Given the description of an element on the screen output the (x, y) to click on. 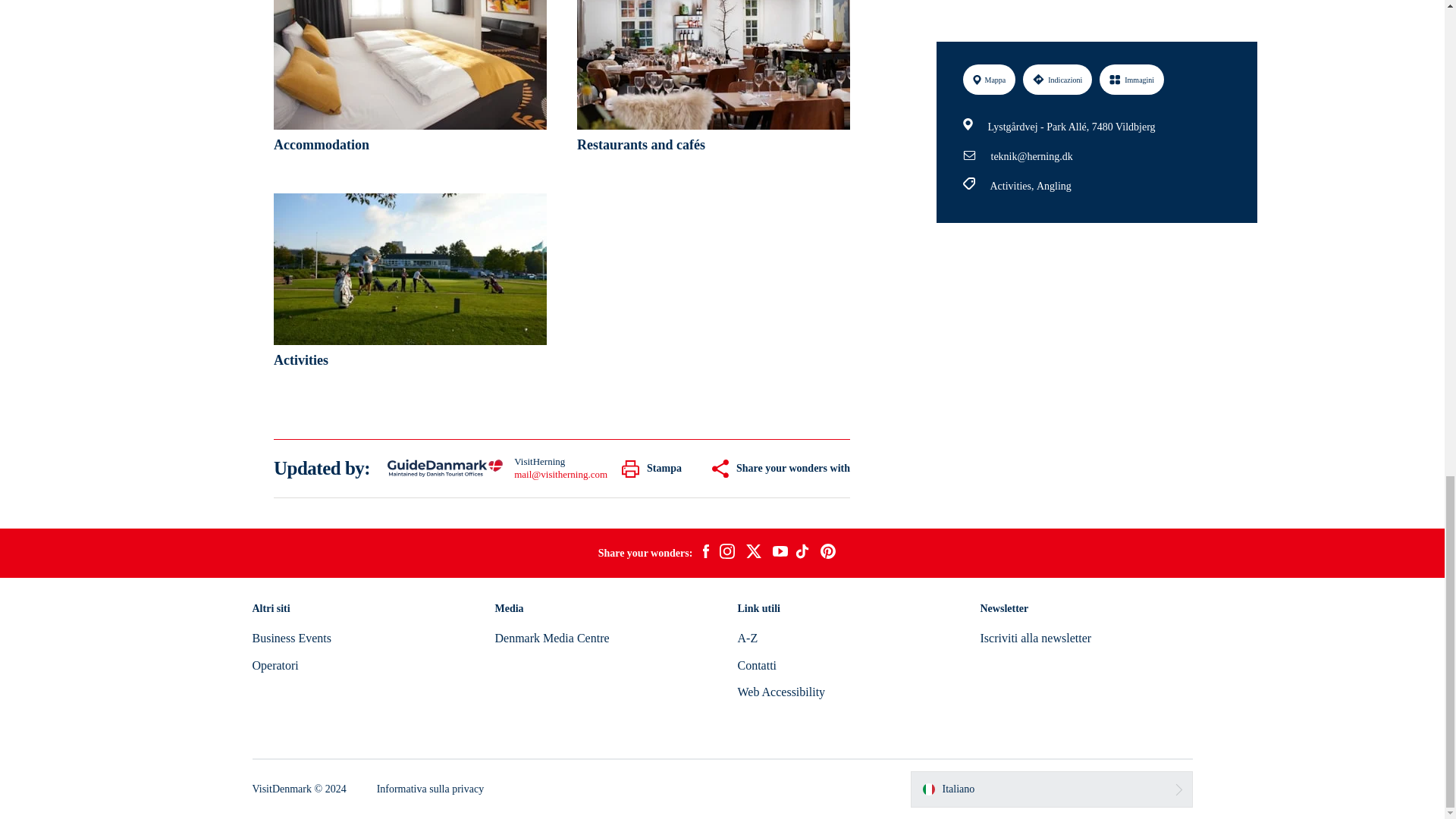
Iscriviti alla newsletter (1034, 637)
youtube (780, 553)
pinterest (828, 553)
Contatti (756, 665)
Web Accessibility (780, 691)
Accommodation (410, 81)
Activities (410, 285)
Business Events (290, 637)
Business Events (290, 637)
facebook (705, 553)
Informativa sulla privacy (430, 789)
Denmark Media Centre (551, 637)
A-Z (746, 637)
Denmark Media Centre (551, 637)
instagram (726, 553)
